Given the description of an element on the screen output the (x, y) to click on. 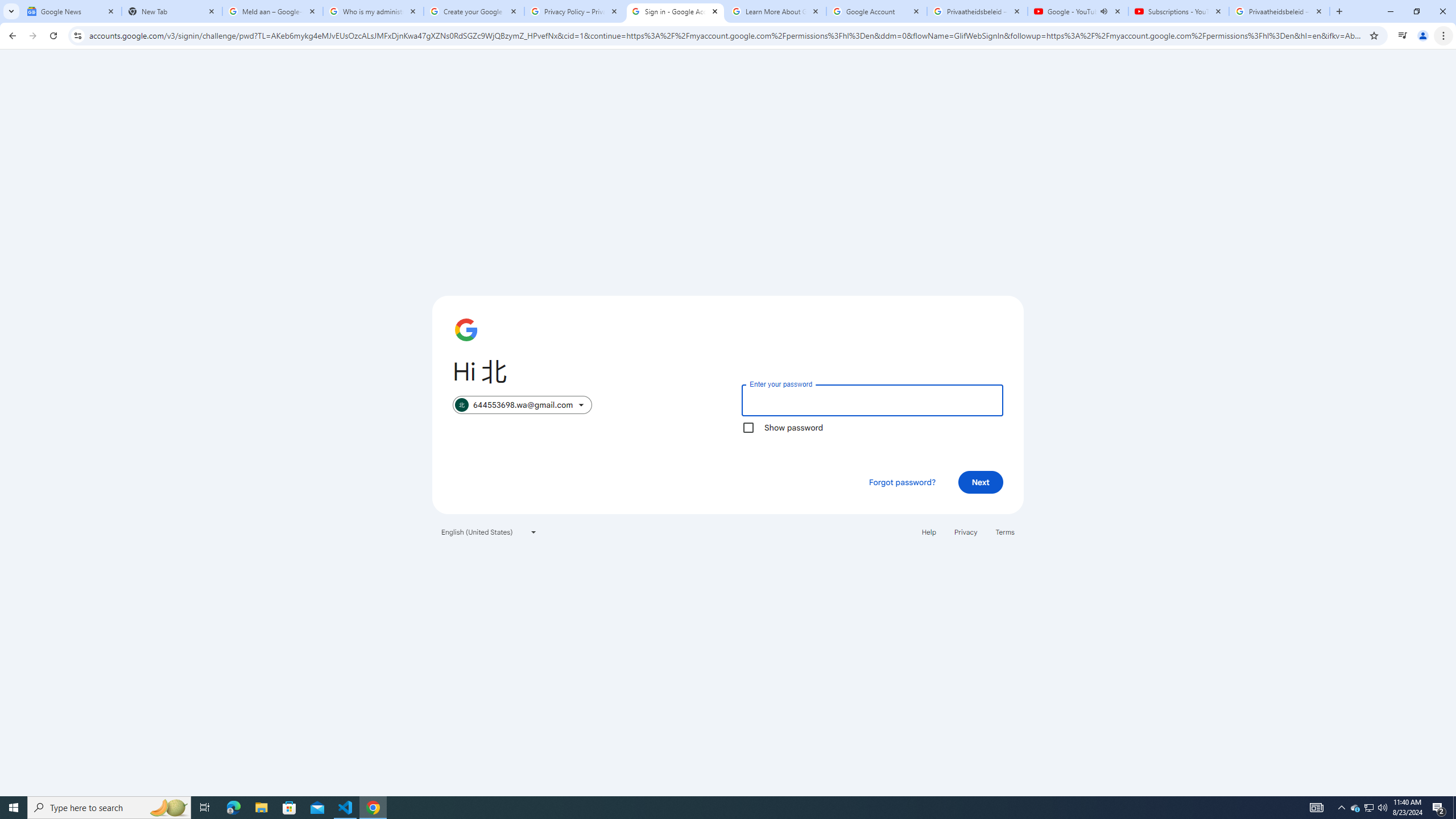
Google - YouTube - Audio playing (1078, 11)
Google News (71, 11)
Show password (748, 427)
